Given the description of an element on the screen output the (x, y) to click on. 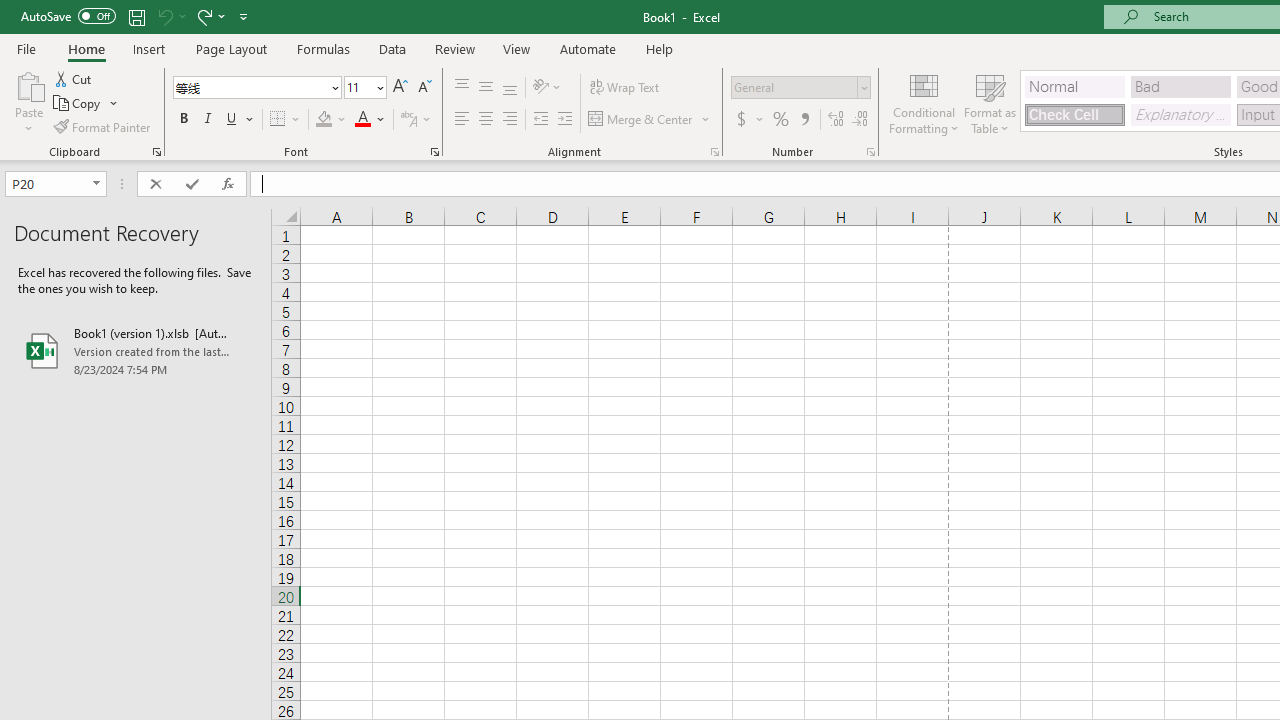
Format Painter (103, 126)
Merge & Center (641, 119)
Font (250, 87)
Cut (73, 78)
Explanatory Text (1180, 114)
Paste (28, 84)
Accounting Number Format (741, 119)
